Given the description of an element on the screen output the (x, y) to click on. 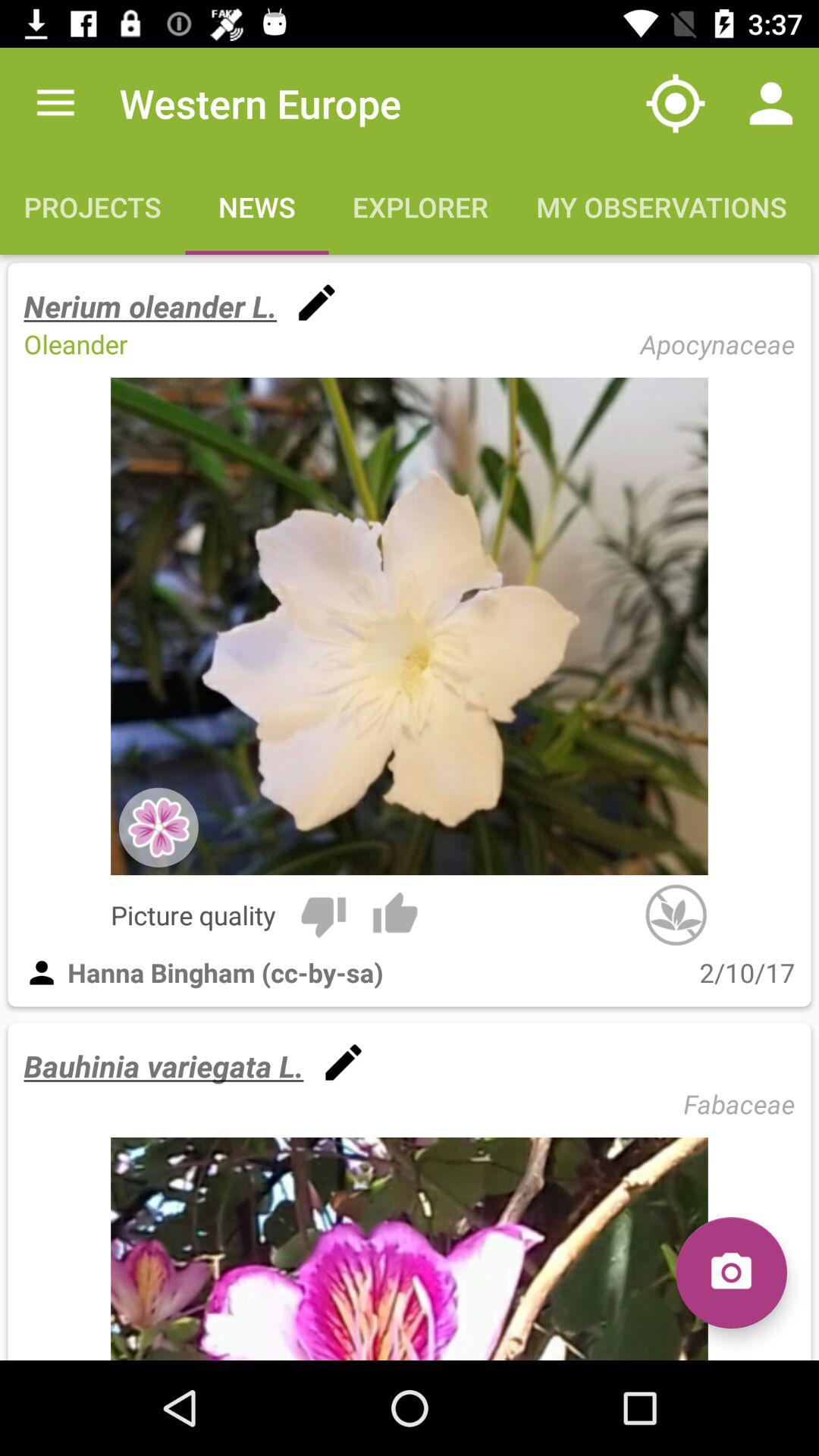
press the icon next to the picture quality item (323, 914)
